Given the description of an element on the screen output the (x, y) to click on. 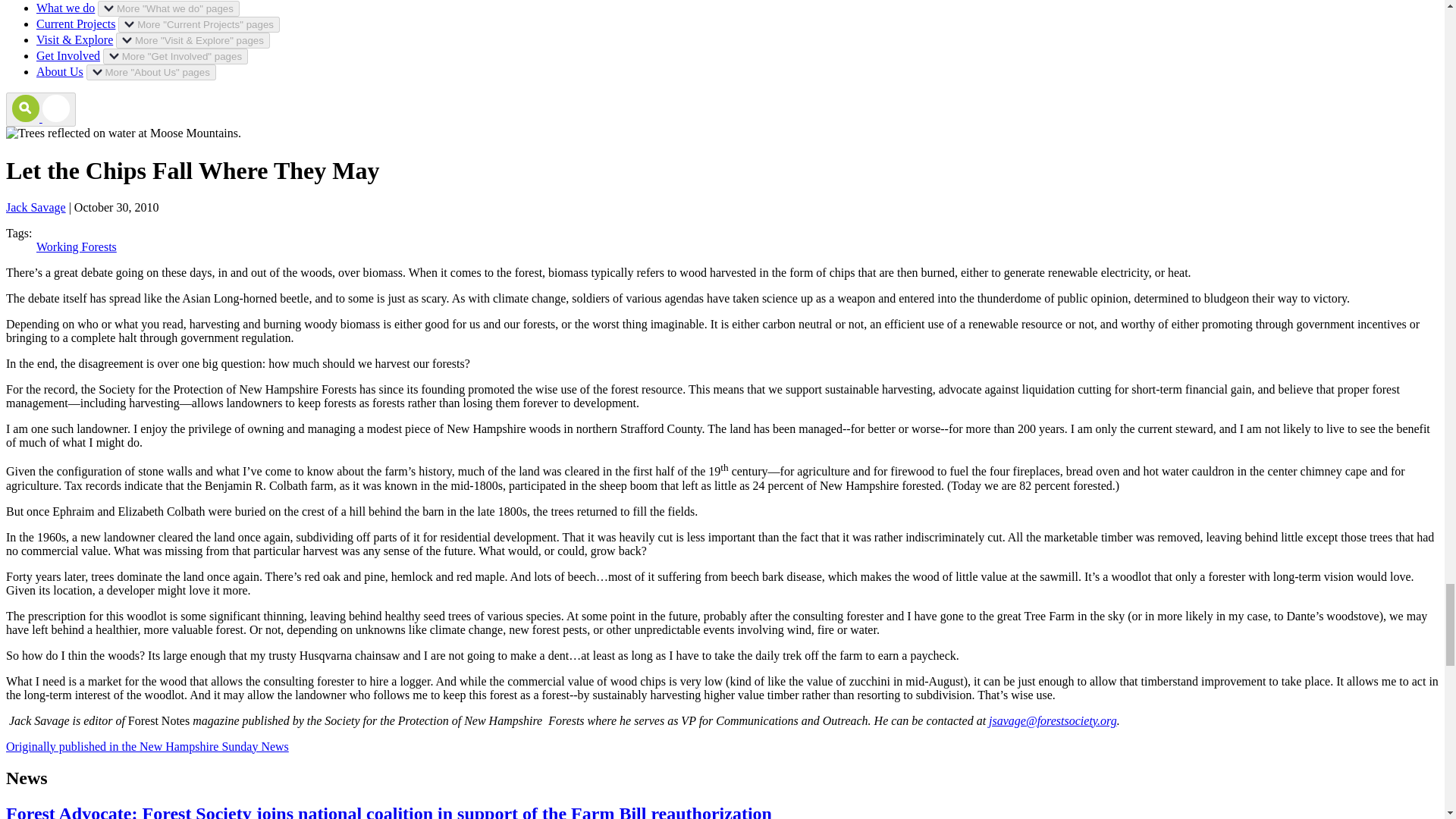
More "Get Involved" pages (175, 56)
Get Involved (68, 55)
Open search (40, 109)
More "Current Projects" pages (198, 24)
More "What we do" pages (168, 8)
What we do (65, 7)
Current Projects (75, 23)
